Given the description of an element on the screen output the (x, y) to click on. 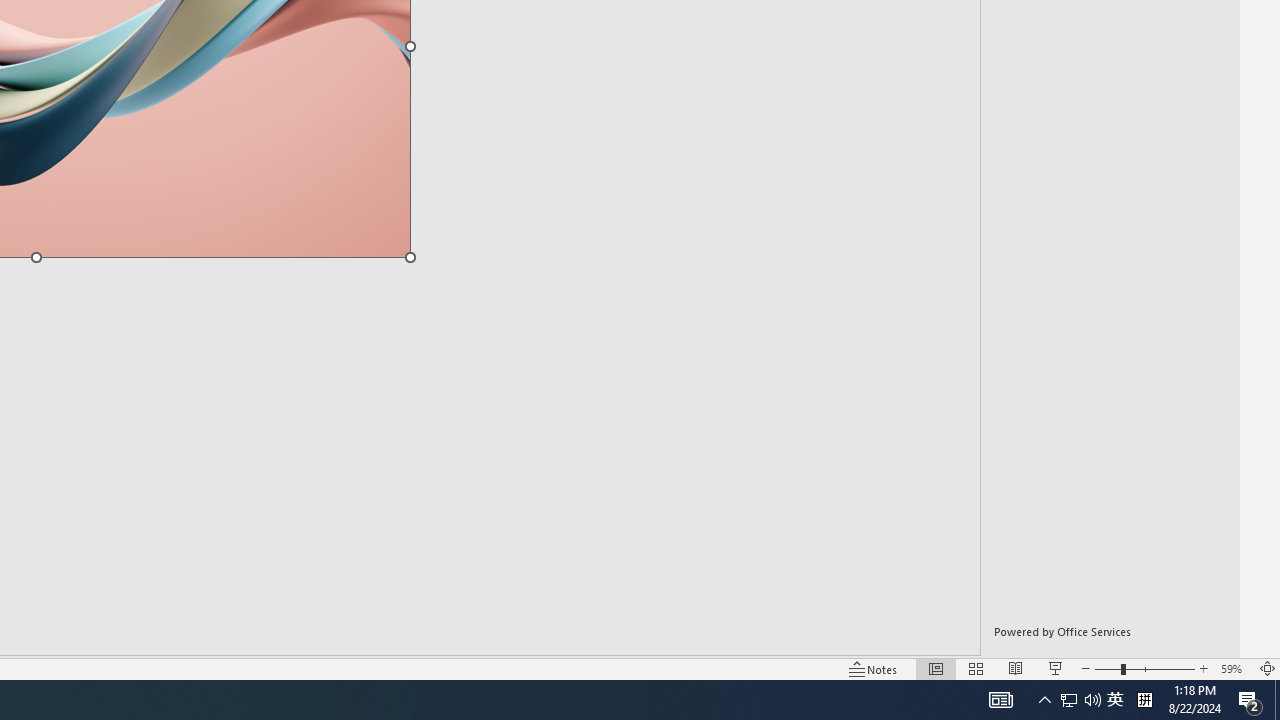
Zoom 59% (1234, 668)
